Given the description of an element on the screen output the (x, y) to click on. 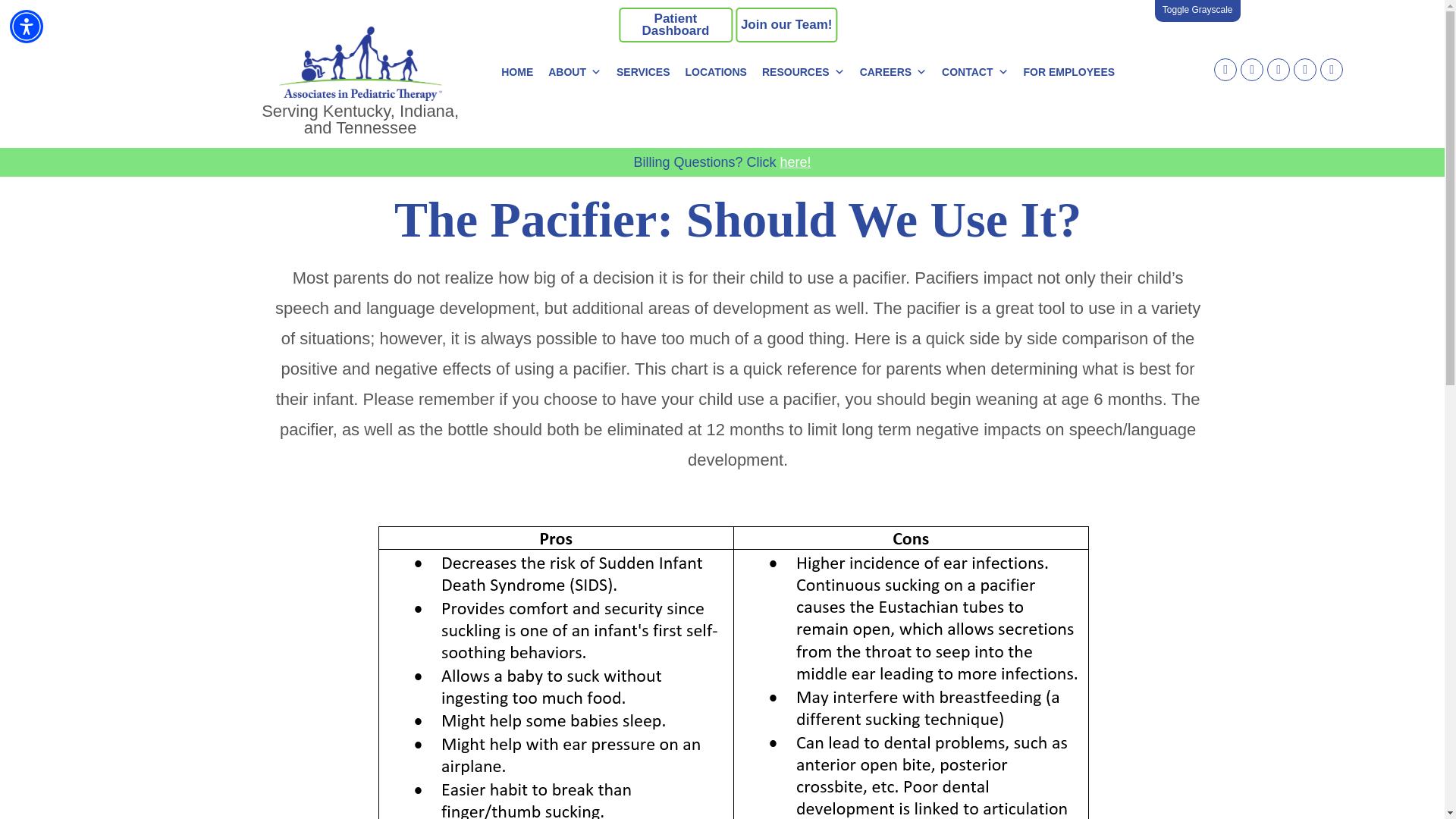
LOCATIONS (716, 71)
Facebook (1225, 67)
FOR EMPLOYEES (1069, 71)
CAREERS (892, 71)
Instagram (1251, 67)
SERVICES (643, 71)
ABOUT (574, 71)
here! (795, 161)
Patient Dashboard (675, 24)
Join our Team! (786, 24)
RESOURCES (802, 71)
Accessibility Menu (26, 26)
CONTACT (974, 71)
Youtube (1331, 67)
Twitter (1305, 67)
